Given the description of an element on the screen output the (x, y) to click on. 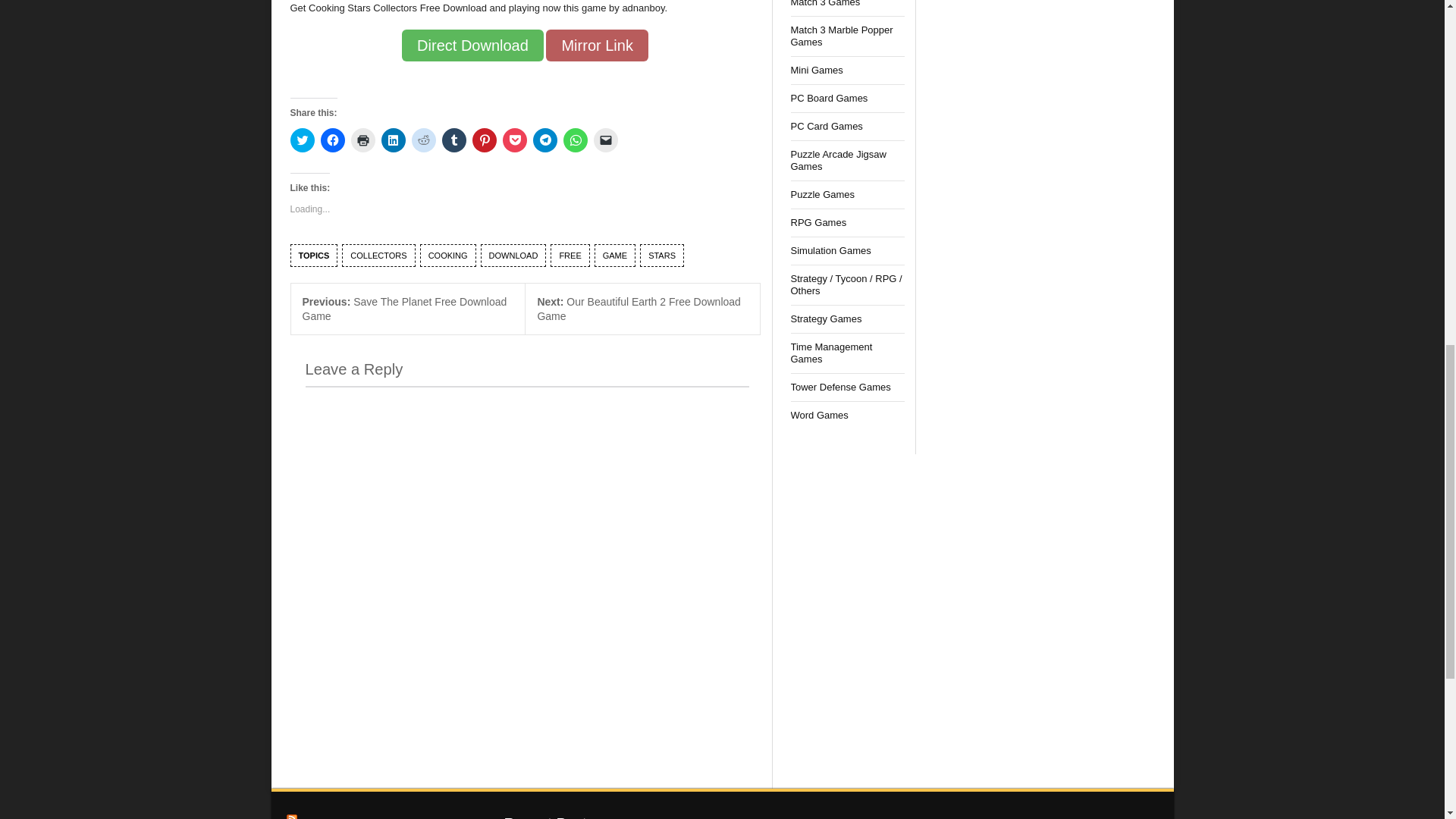
Click to share on Pinterest (483, 139)
Click to email a link to a friend (604, 139)
Click to share on Telegram (544, 139)
Click to share on WhatsApp (574, 139)
Click to share on Tumblr (453, 139)
Click to share on Reddit (422, 139)
Click to share on LinkedIn (392, 139)
Mirror Links (596, 45)
Click to print (362, 139)
Direct Download (472, 45)
